Given the description of an element on the screen output the (x, y) to click on. 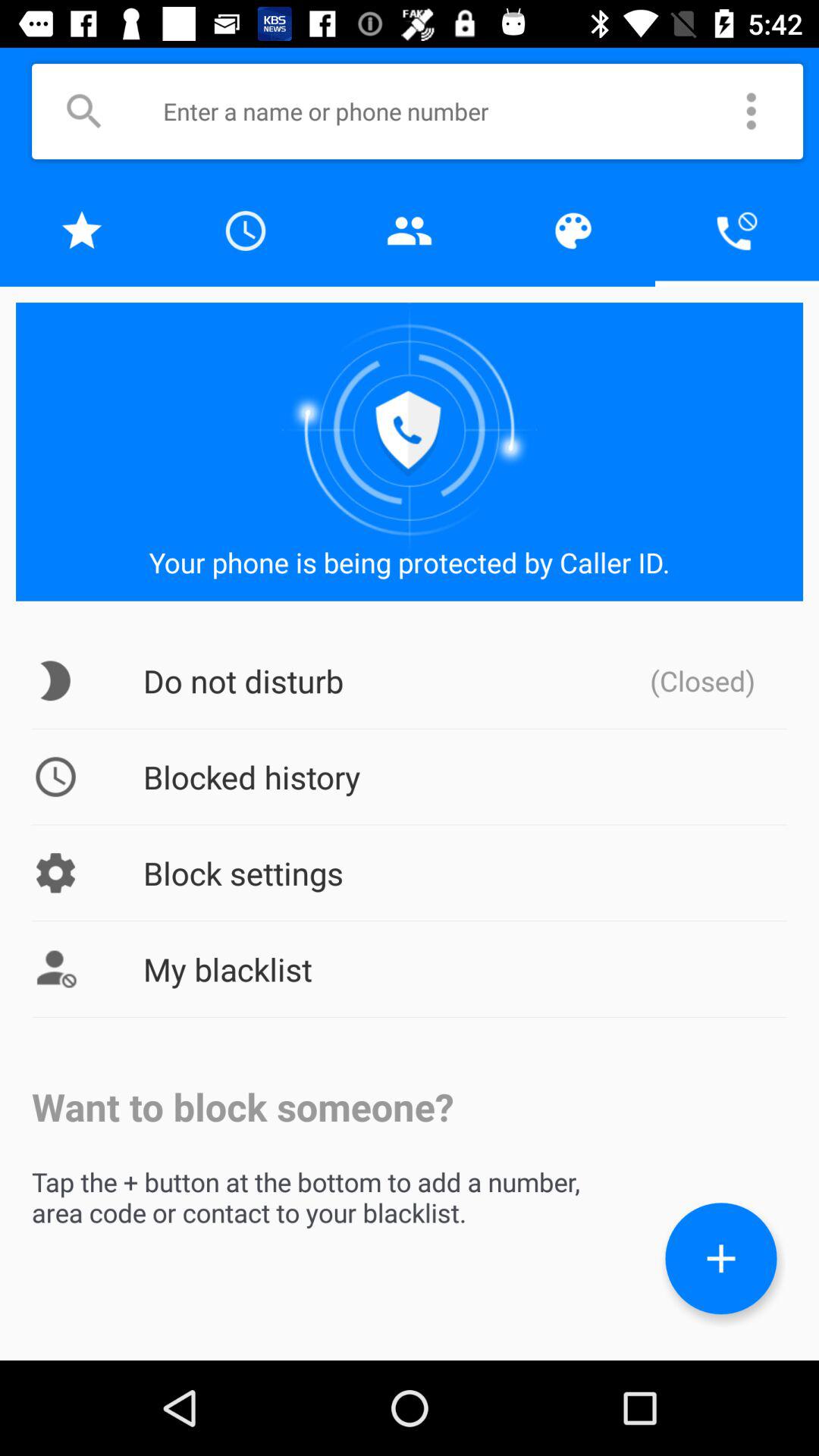
select the app above the your phone is app (81, 230)
